Given the description of an element on the screen output the (x, y) to click on. 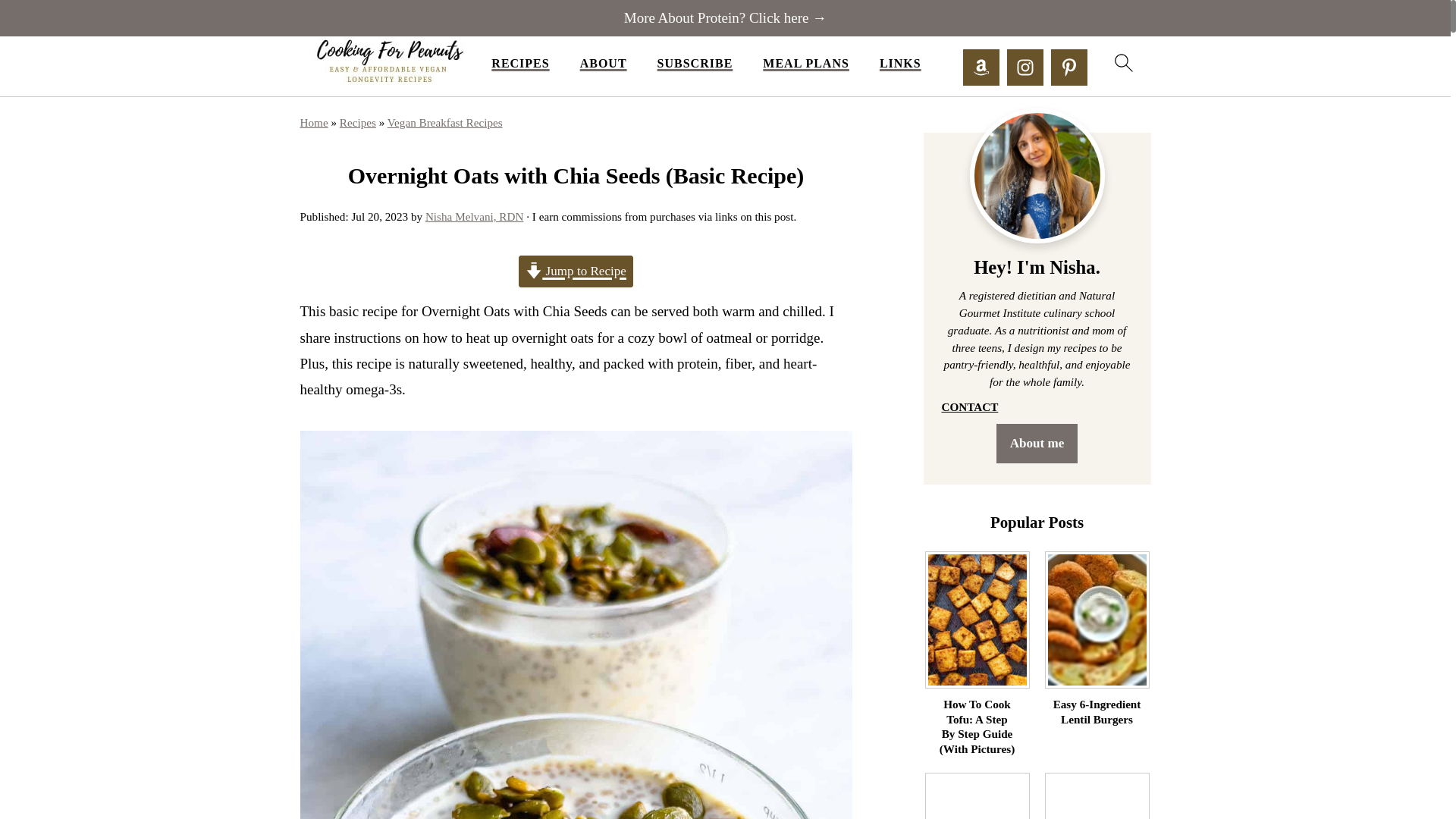
RECIPES (520, 63)
ABOUT (603, 63)
Nisha Melvani, RDN (474, 215)
Vegan Breakfast Recipes (444, 122)
Home (314, 122)
Recipes (357, 122)
SUBSCRIBE (695, 63)
LINKS (900, 63)
MEAL PLANS (805, 63)
Jump to Recipe (575, 271)
